Given the description of an element on the screen output the (x, y) to click on. 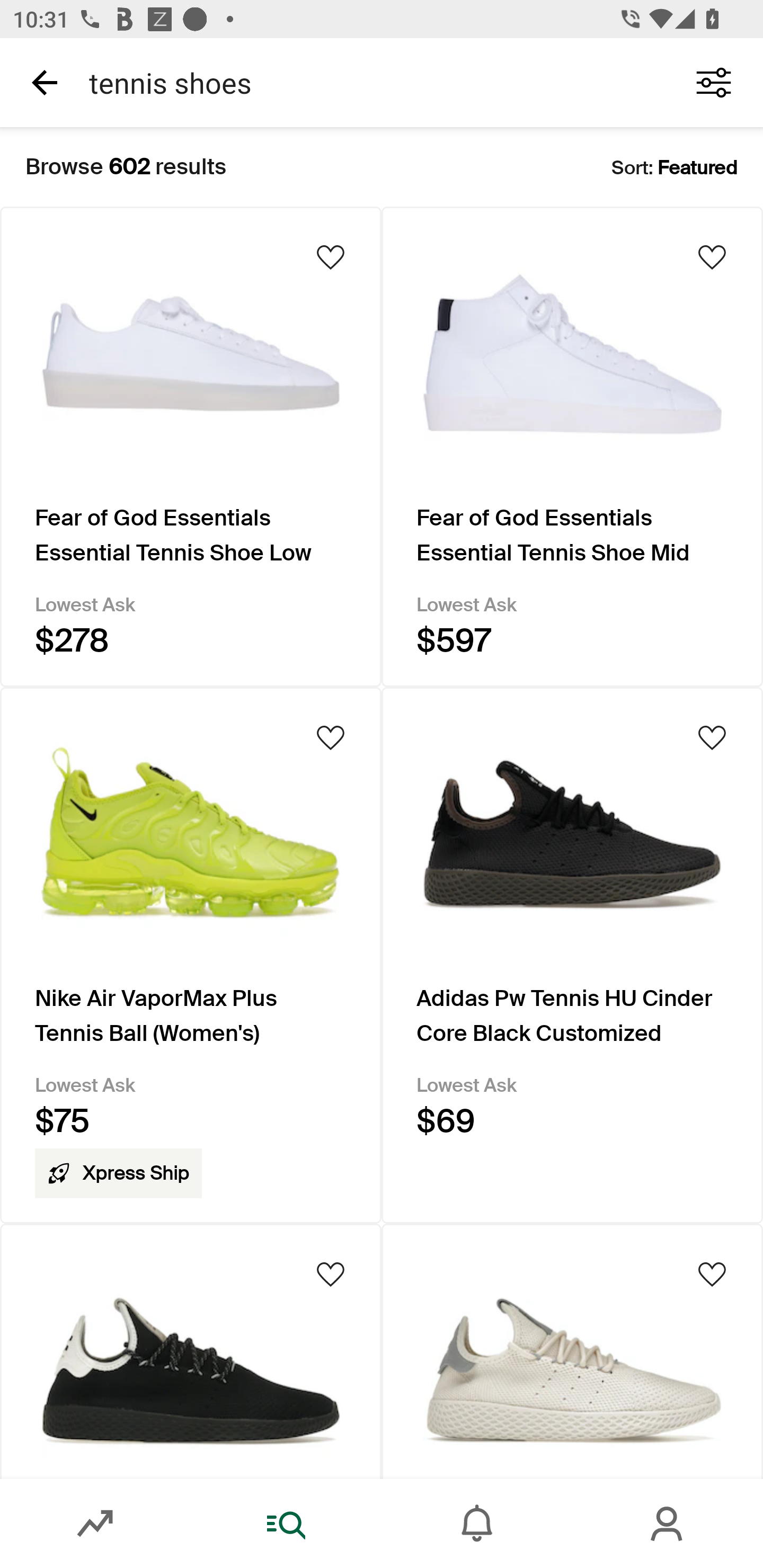
tennis shoes (370, 82)
Product Image (190, 1350)
Product Image (572, 1350)
Market (95, 1523)
Inbox (476, 1523)
Account (667, 1523)
